Given the description of an element on the screen output the (x, y) to click on. 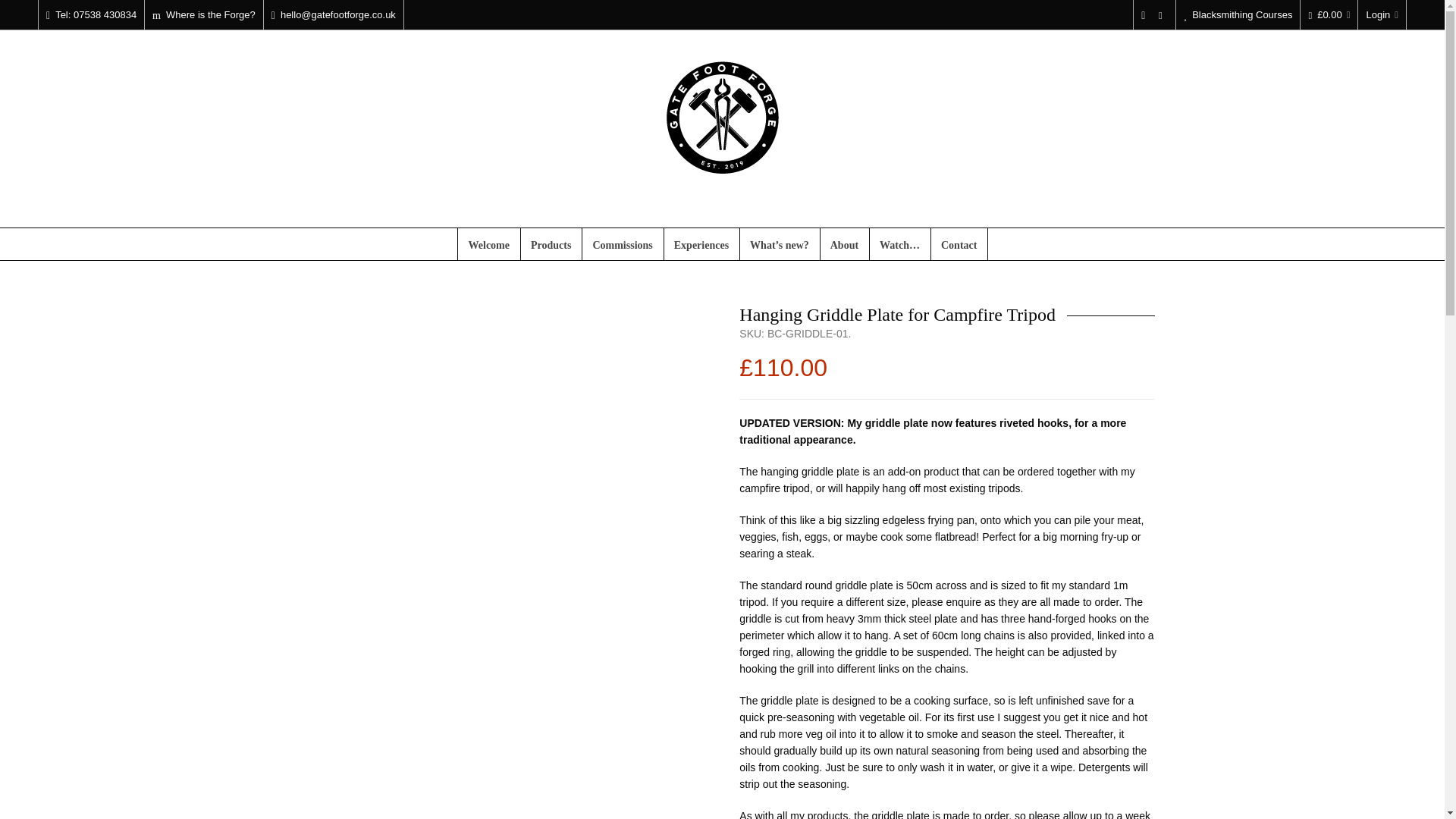
Experiences (701, 244)
Login (1381, 15)
Products (550, 244)
Welcome (489, 244)
Where is the Forge? (204, 15)
Commissions (621, 244)
About (844, 244)
Contact (959, 244)
Blacksmithing Courses (1237, 15)
